Given the description of an element on the screen output the (x, y) to click on. 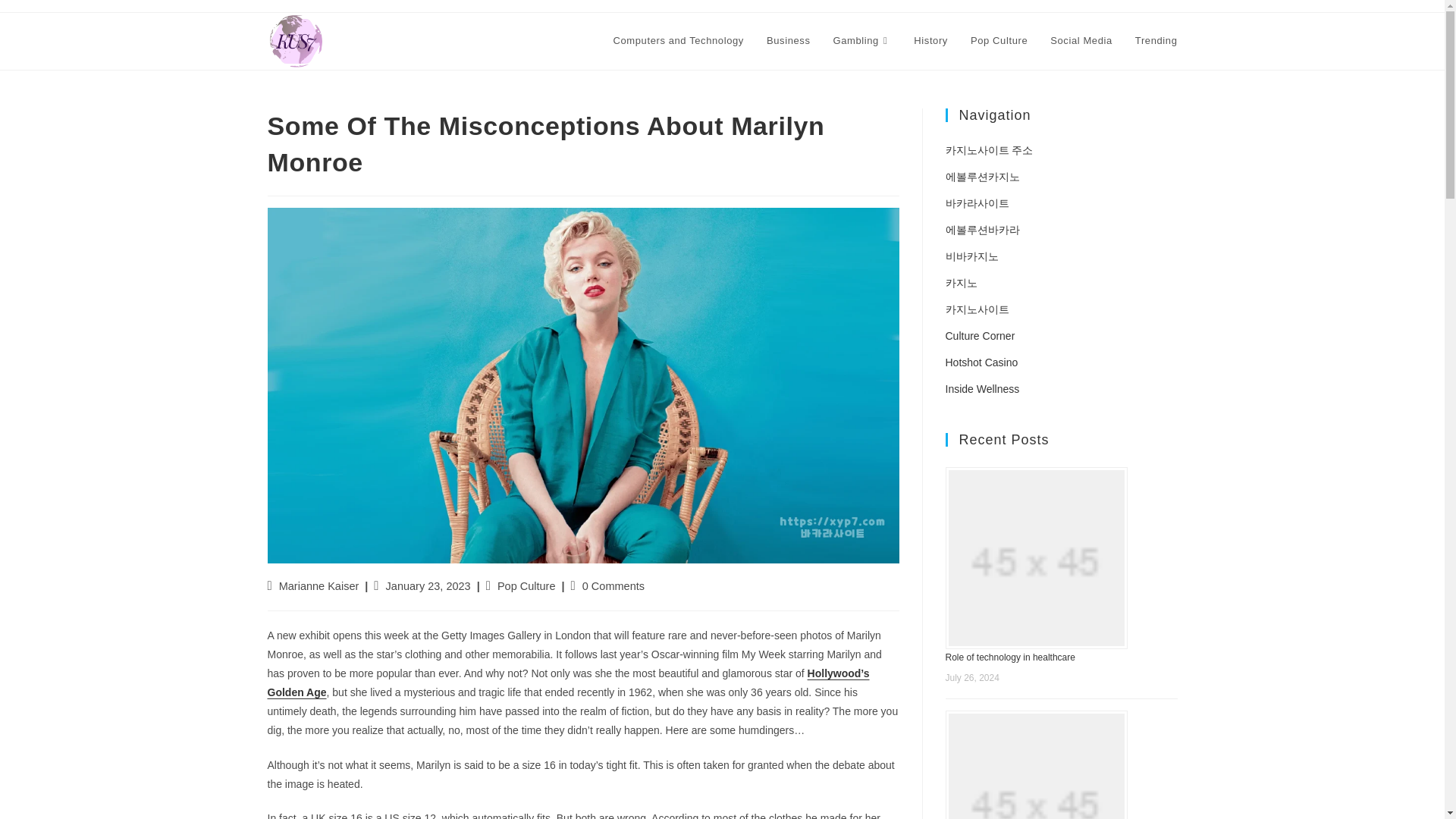
History (930, 40)
Business (788, 40)
Trending (1156, 40)
Gambling (862, 40)
Posts by Marianne Kaiser (319, 585)
Computers and Technology (678, 40)
Pop Culture (999, 40)
Pop Culture (526, 585)
Marianne Kaiser (319, 585)
Social Media (1081, 40)
0 Comments (613, 585)
